Given the description of an element on the screen output the (x, y) to click on. 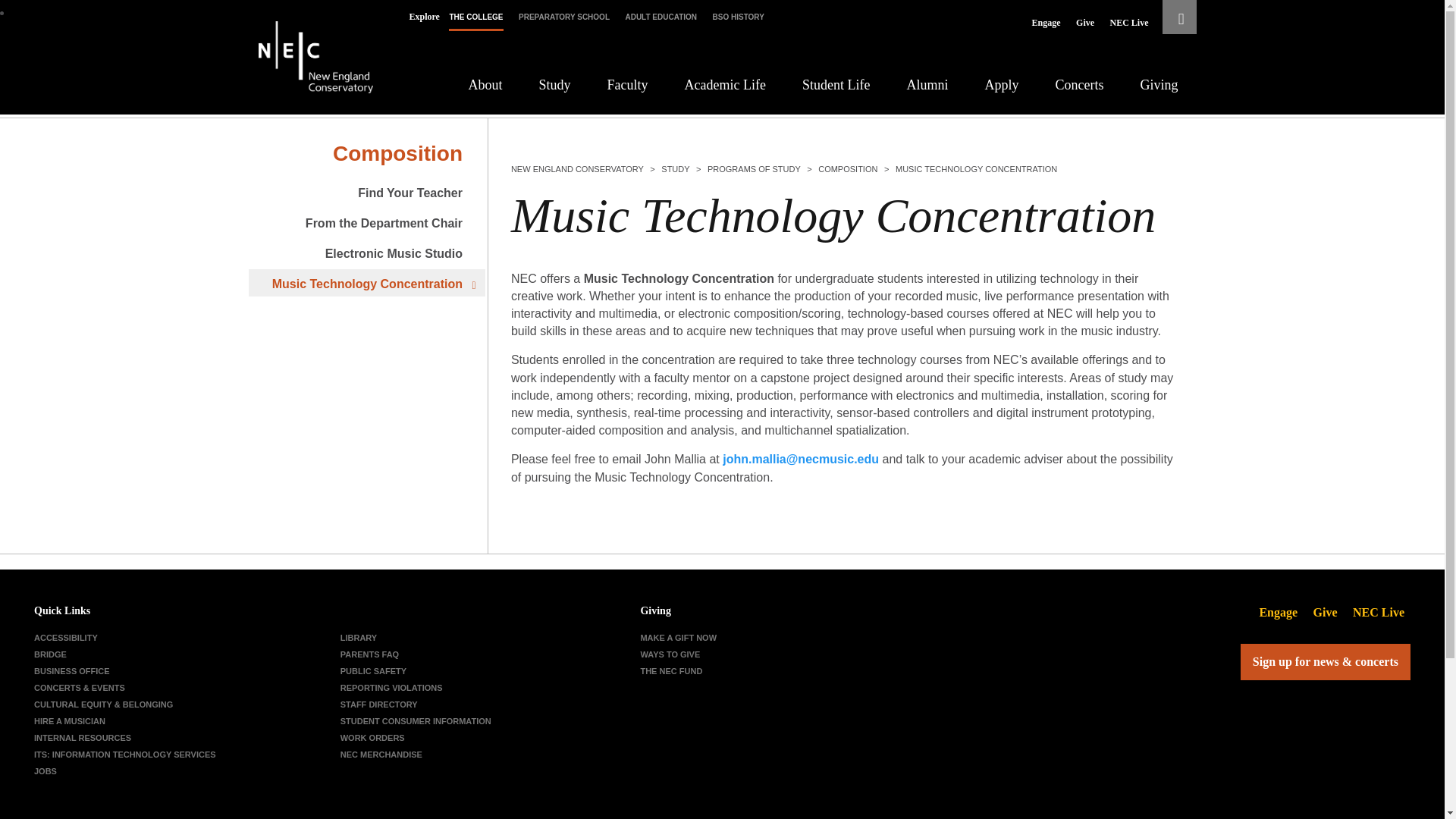
Submit (467, 70)
NEC Live (1128, 22)
PREPARATORY SCHOOL (564, 16)
BSO HISTORY (738, 16)
THE COLLEGE (475, 16)
About (485, 84)
Study (554, 84)
Engage (1046, 22)
Academic Life (724, 84)
ADULT EDUCATION (660, 16)
Faculty (627, 84)
